Given the description of an element on the screen output the (x, y) to click on. 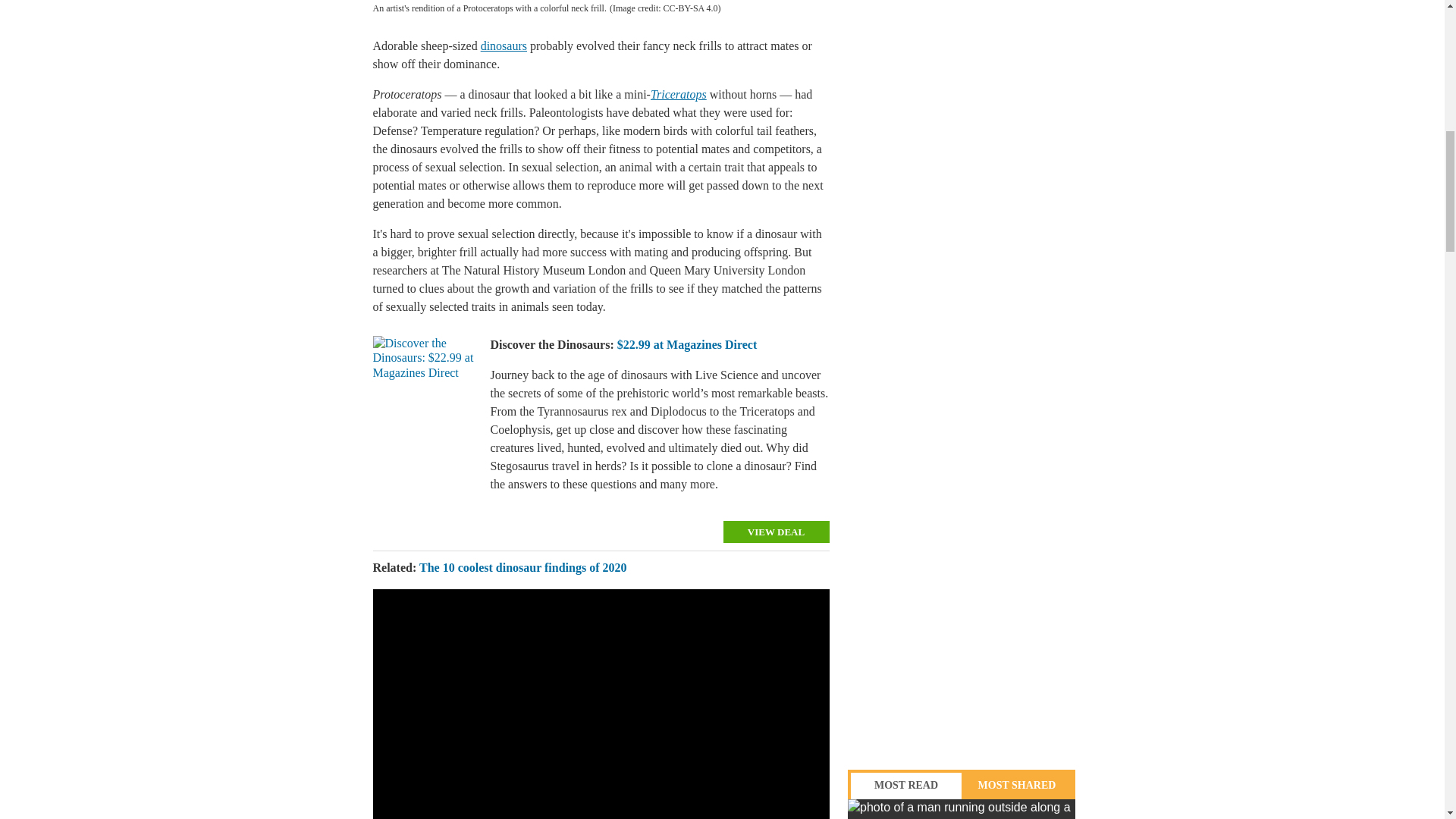
What causes you to get a 'stitch in your side'? (961, 809)
